Given the description of an element on the screen output the (x, y) to click on. 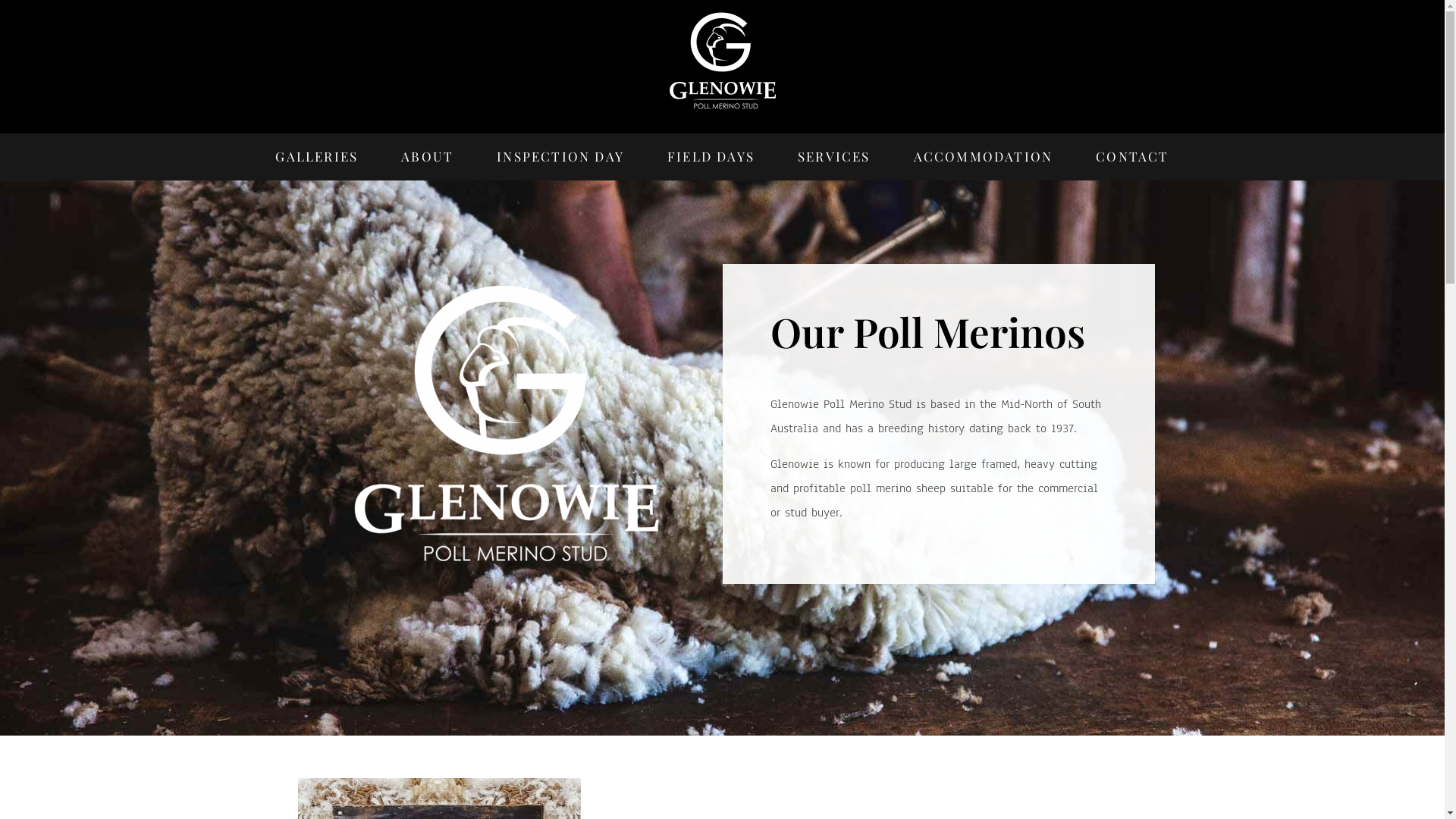
INSPECTION DAY Element type: text (560, 156)
SERVICES Element type: text (833, 156)
GALLERIES Element type: text (316, 156)
glenowie-logo-white2 Element type: hover (722, 60)
FIELD DAYS Element type: text (710, 156)
CONTACT Element type: text (1131, 156)
ABOUT Element type: text (426, 156)
glenowie-logo-white2 Element type: hover (506, 422)
ACCOMMODATION Element type: text (983, 156)
